Given the description of an element on the screen output the (x, y) to click on. 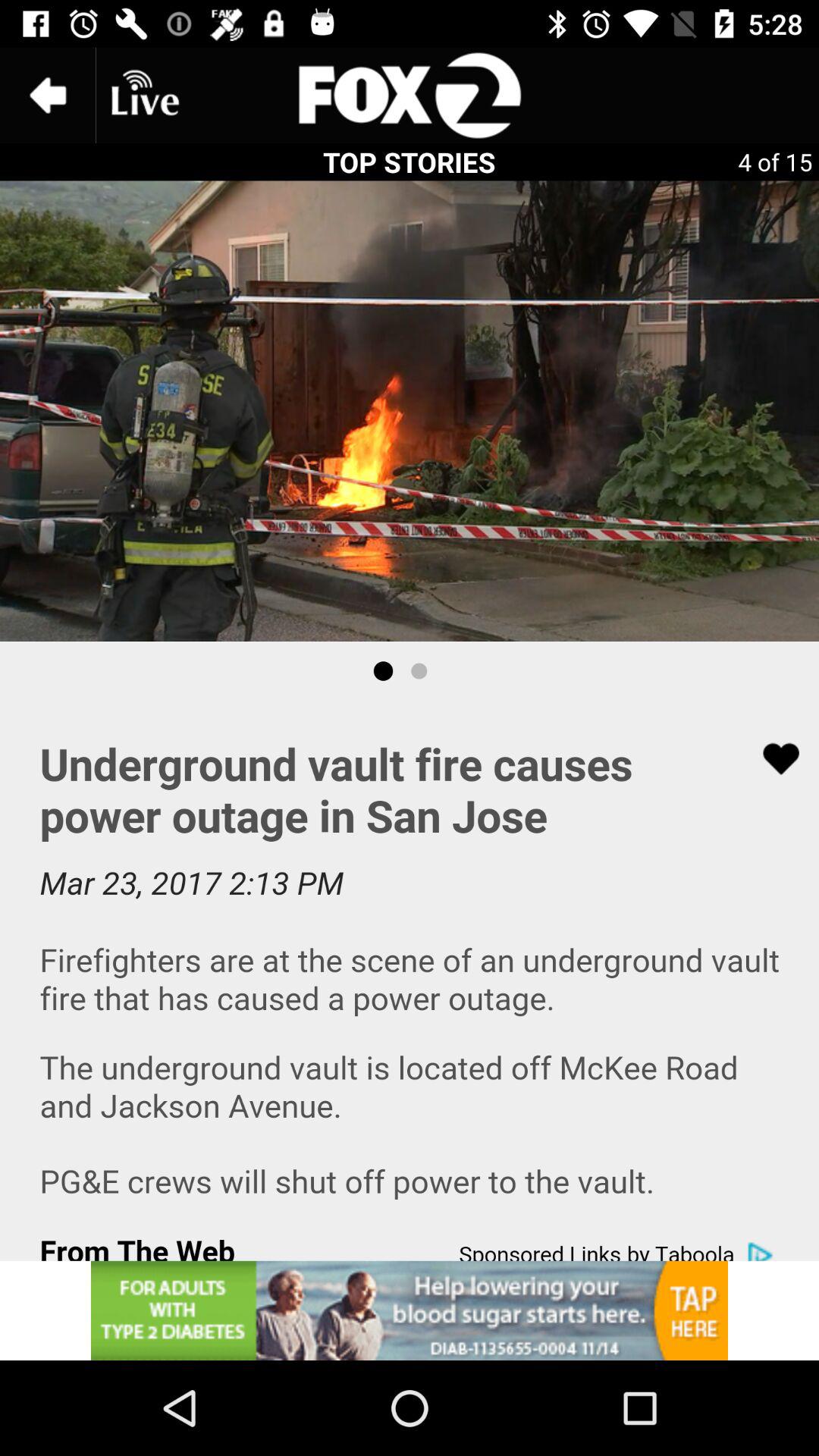
blood sugar advertisement (409, 1310)
